Given the description of an element on the screen output the (x, y) to click on. 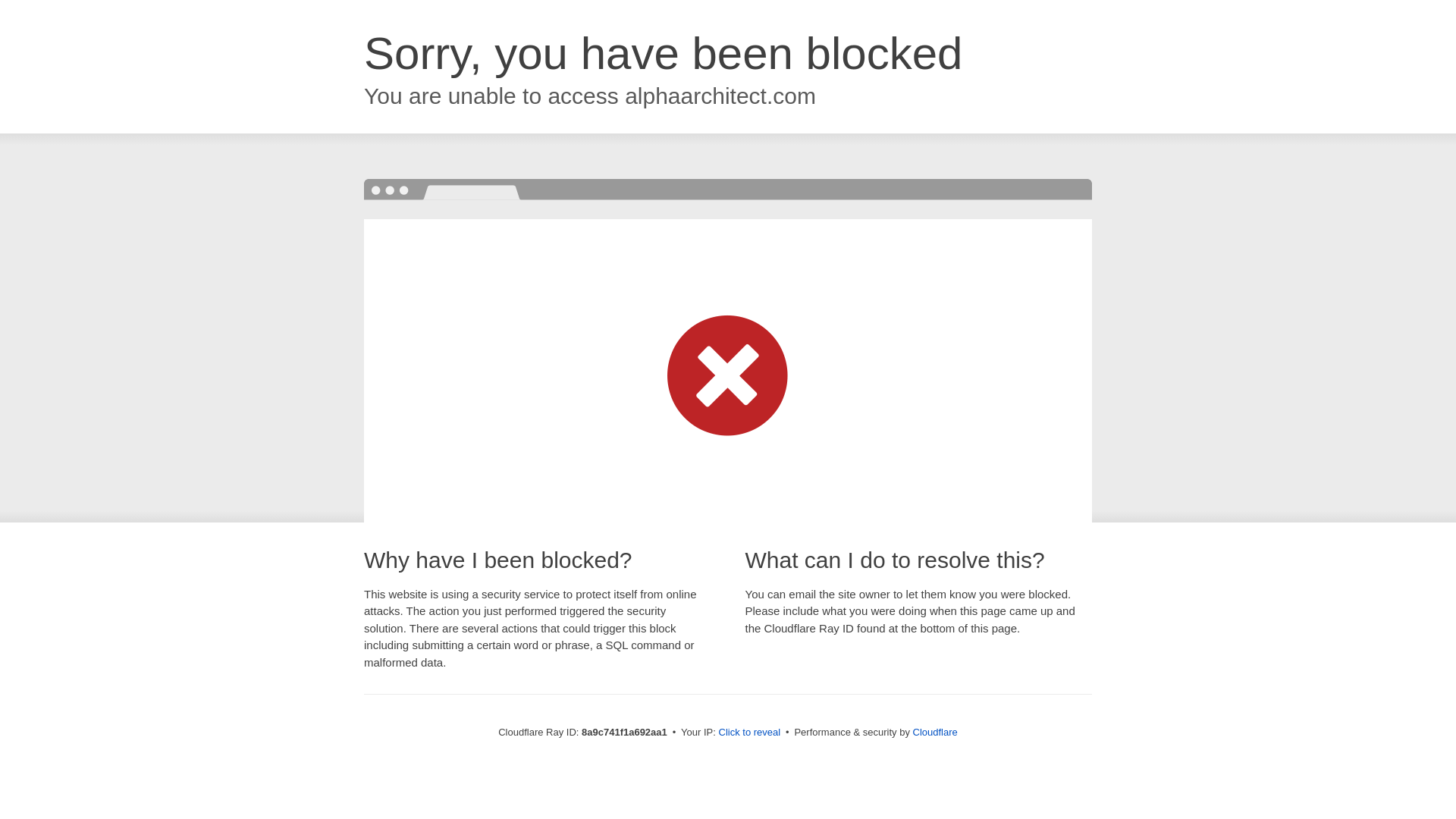
Cloudflare (935, 731)
Click to reveal (749, 732)
